Given the description of an element on the screen output the (x, y) to click on. 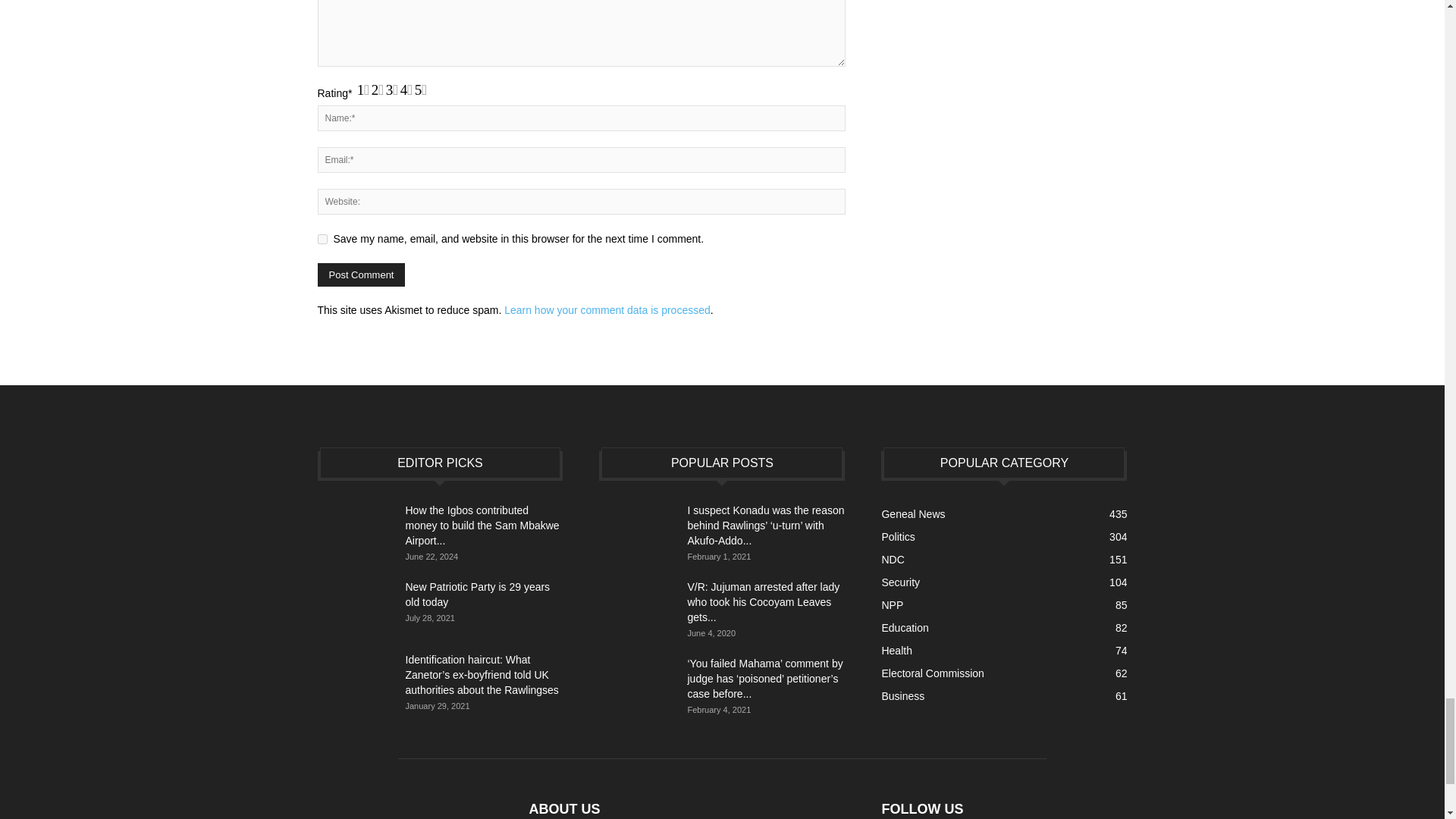
yes (321, 239)
Post Comment (360, 274)
